Given the description of an element on the screen output the (x, y) to click on. 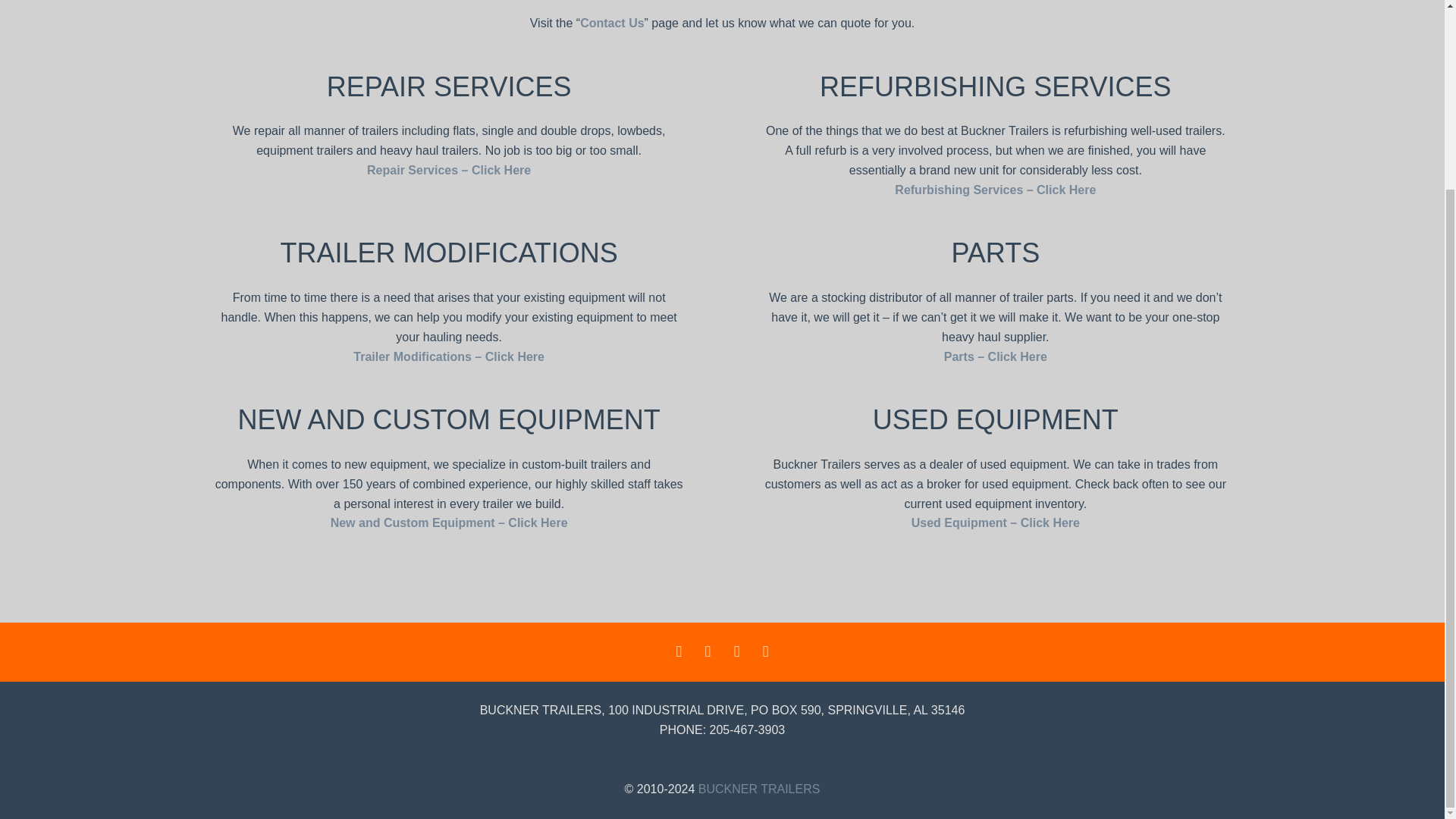
BUCKNER TRAILERS (759, 788)
Contact Us (611, 22)
